Given the description of an element on the screen output the (x, y) to click on. 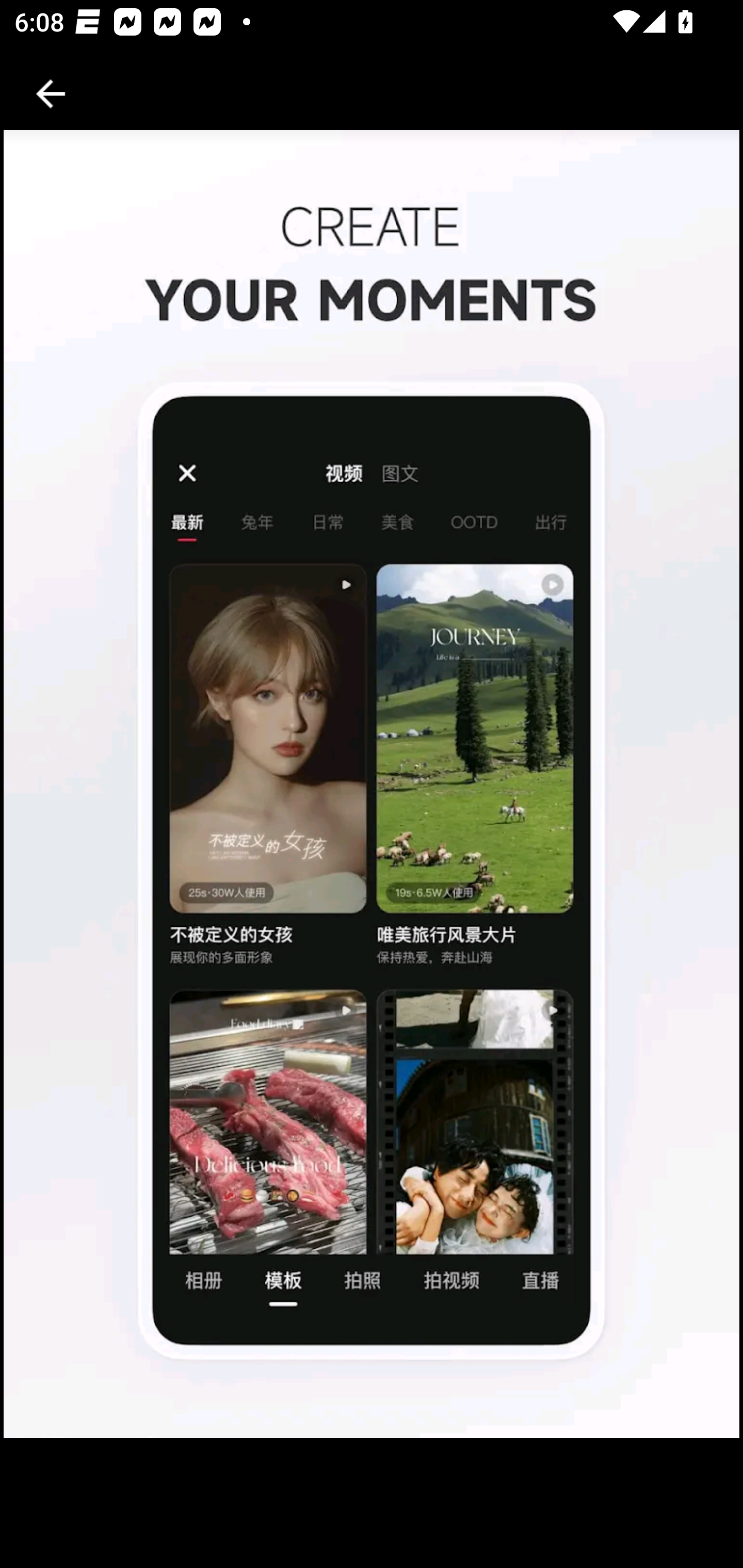
Back (50, 93)
